Given the description of an element on the screen output the (x, y) to click on. 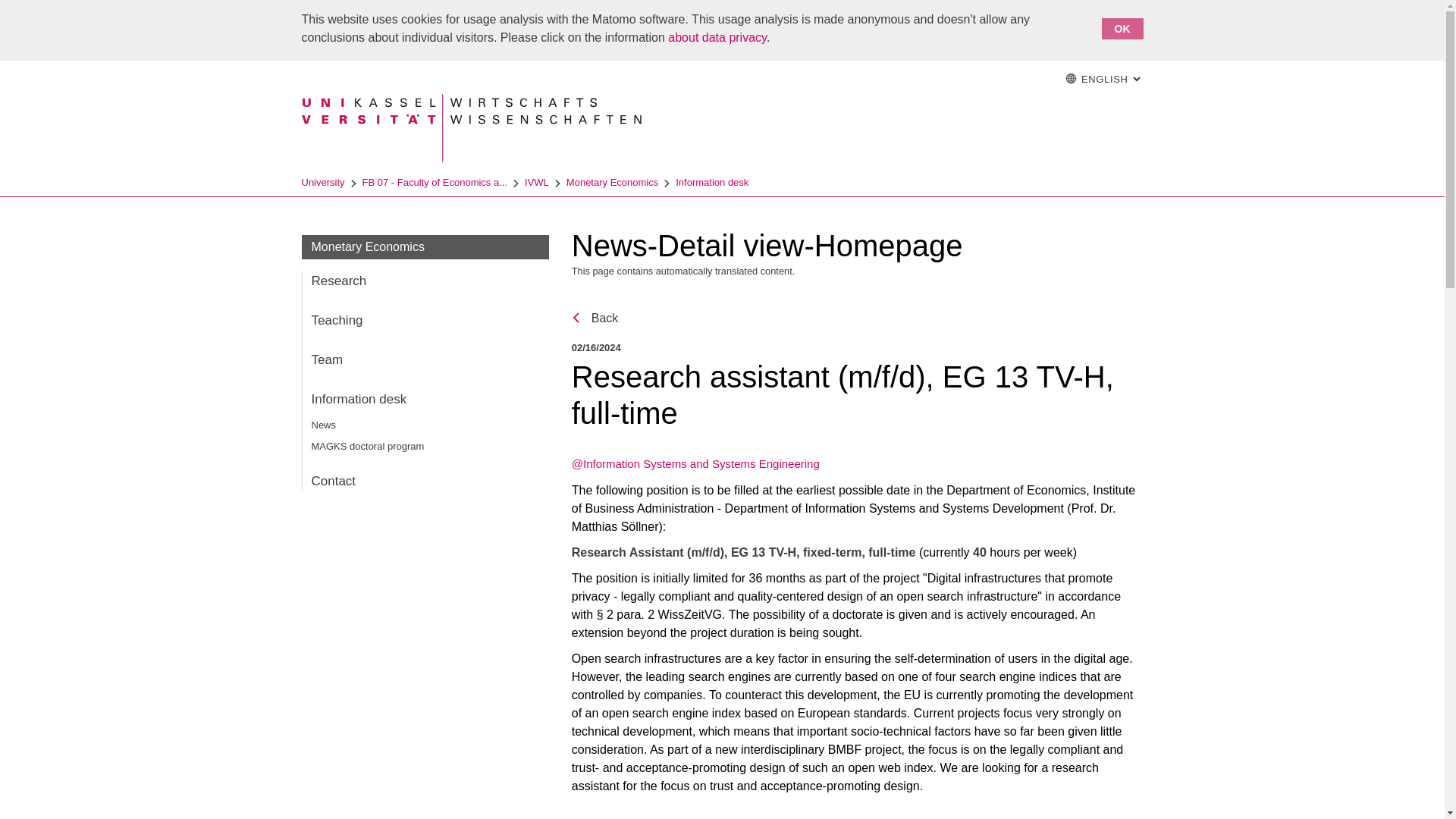
about data privacy (717, 37)
News (1100, 79)
To start page (424, 425)
Back (1037, 79)
Teaching (595, 318)
Jump directly to: content (424, 320)
Information desk (738, 13)
OK (711, 182)
MAGKS doctoral program (1121, 28)
Information desk (424, 446)
Monetary Economics (424, 399)
Team (612, 182)
Research (424, 360)
Contact (424, 281)
